Given the description of an element on the screen output the (x, y) to click on. 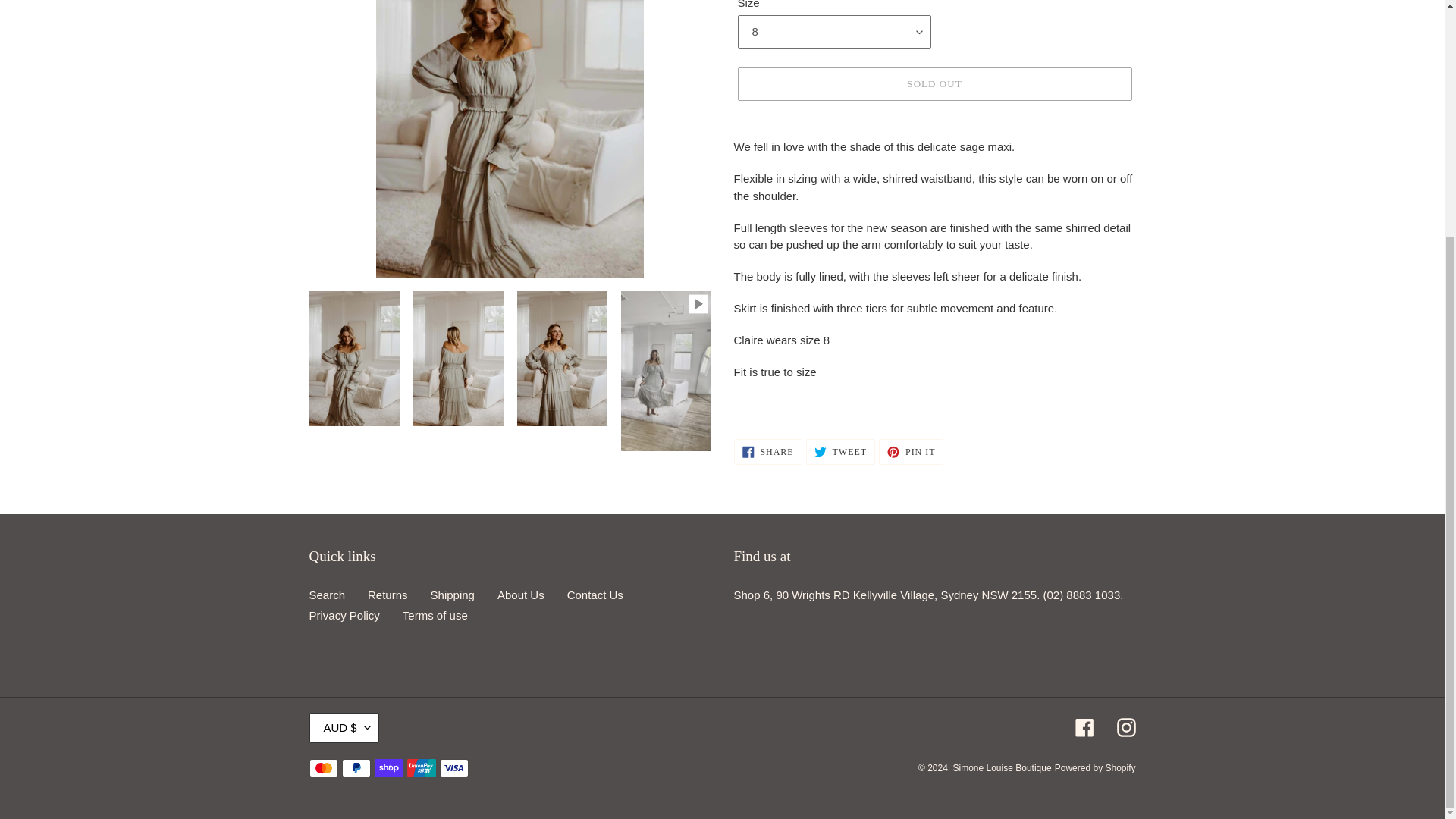
Shipping (840, 451)
Returns (452, 594)
SOLD OUT (387, 594)
Privacy Policy (933, 83)
About Us (344, 615)
Search (520, 594)
Terms of use (767, 451)
Contact Us (327, 594)
